Given the description of an element on the screen output the (x, y) to click on. 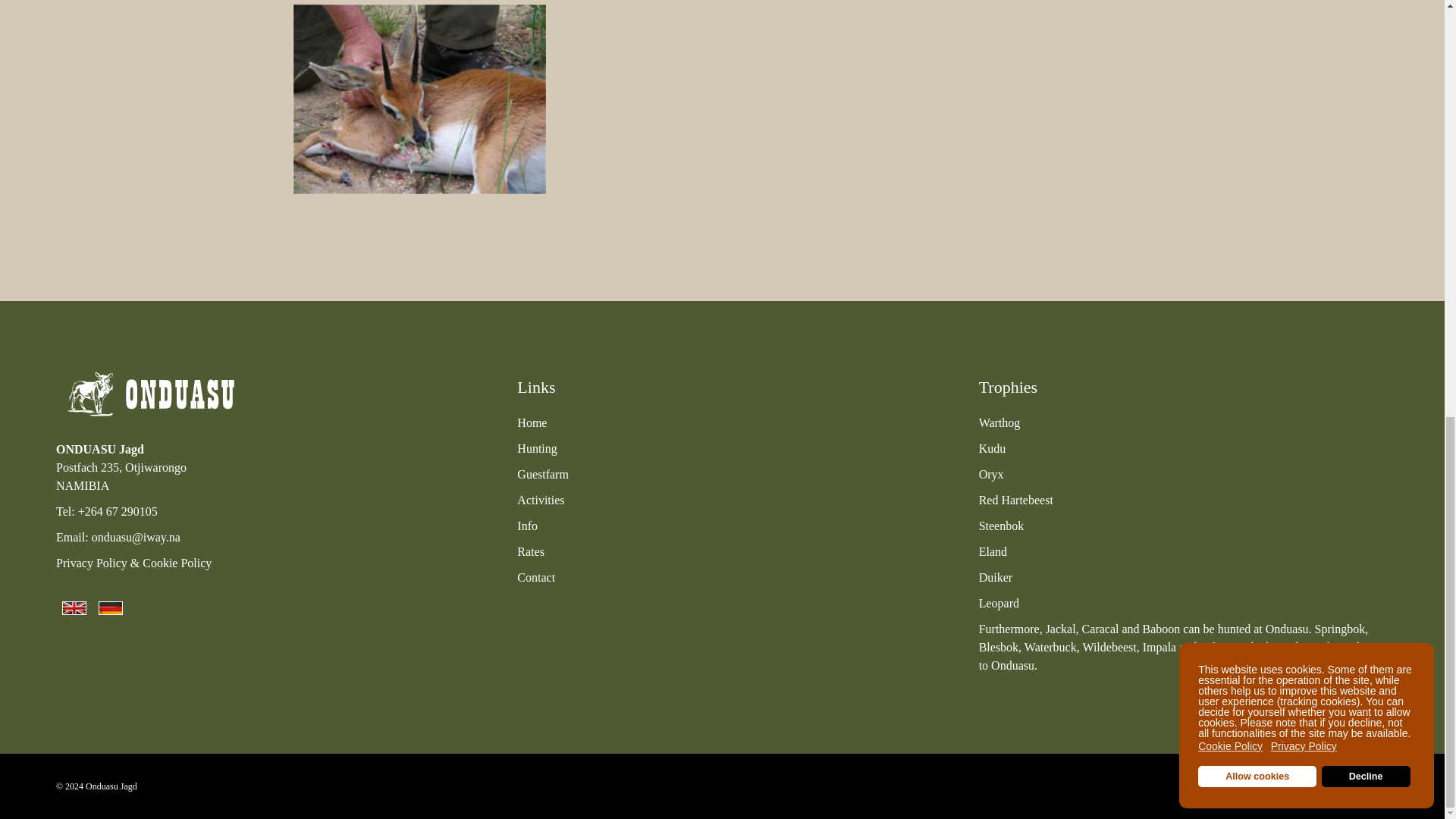
Cookie Policy (176, 562)
Guestfarm (542, 473)
Hunting (536, 448)
Privacy Policy (92, 562)
Activities (540, 499)
Info (526, 525)
Home (531, 422)
